Given the description of an element on the screen output the (x, y) to click on. 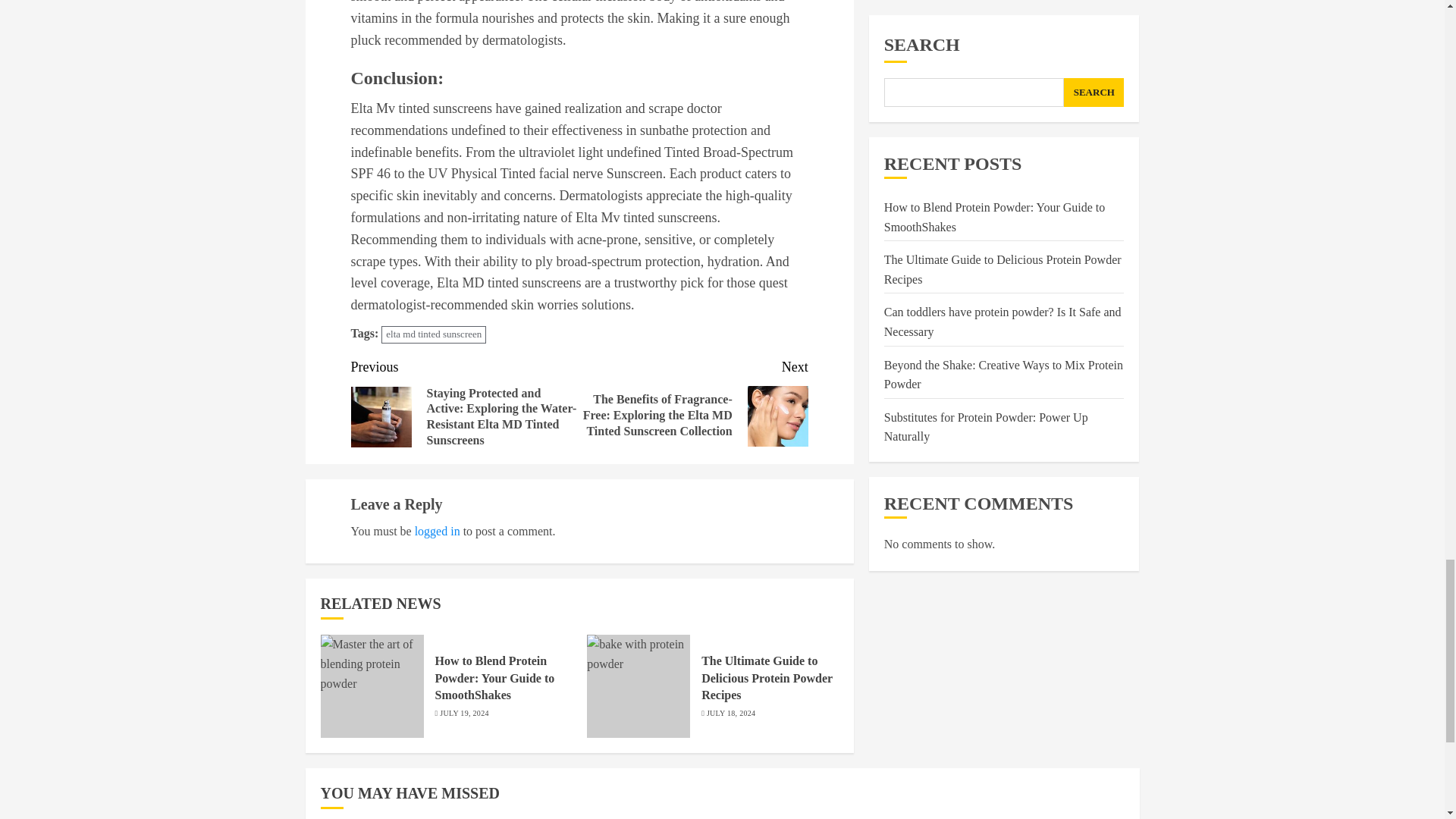
JULY 18, 2024 (730, 713)
logged in (437, 530)
The Ultimate Guide to Delicious Protein Powder Recipes (766, 677)
JULY 19, 2024 (463, 713)
How to Blend Protein Powder: Your Guide to SmoothShakes (494, 677)
elta md tinted sunscreen (433, 334)
